Given the description of an element on the screen output the (x, y) to click on. 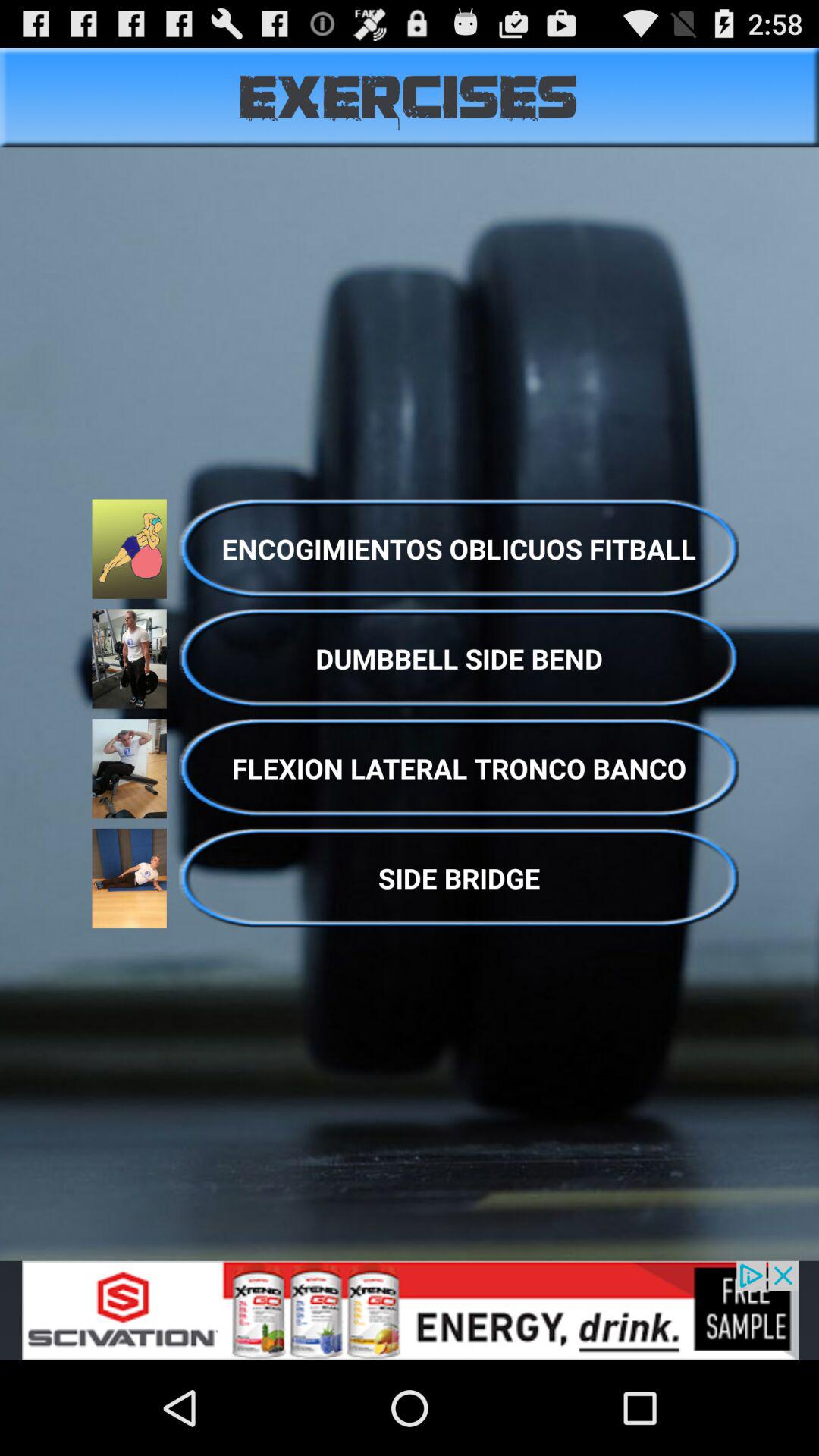
banner (409, 1310)
